Given the description of an element on the screen output the (x, y) to click on. 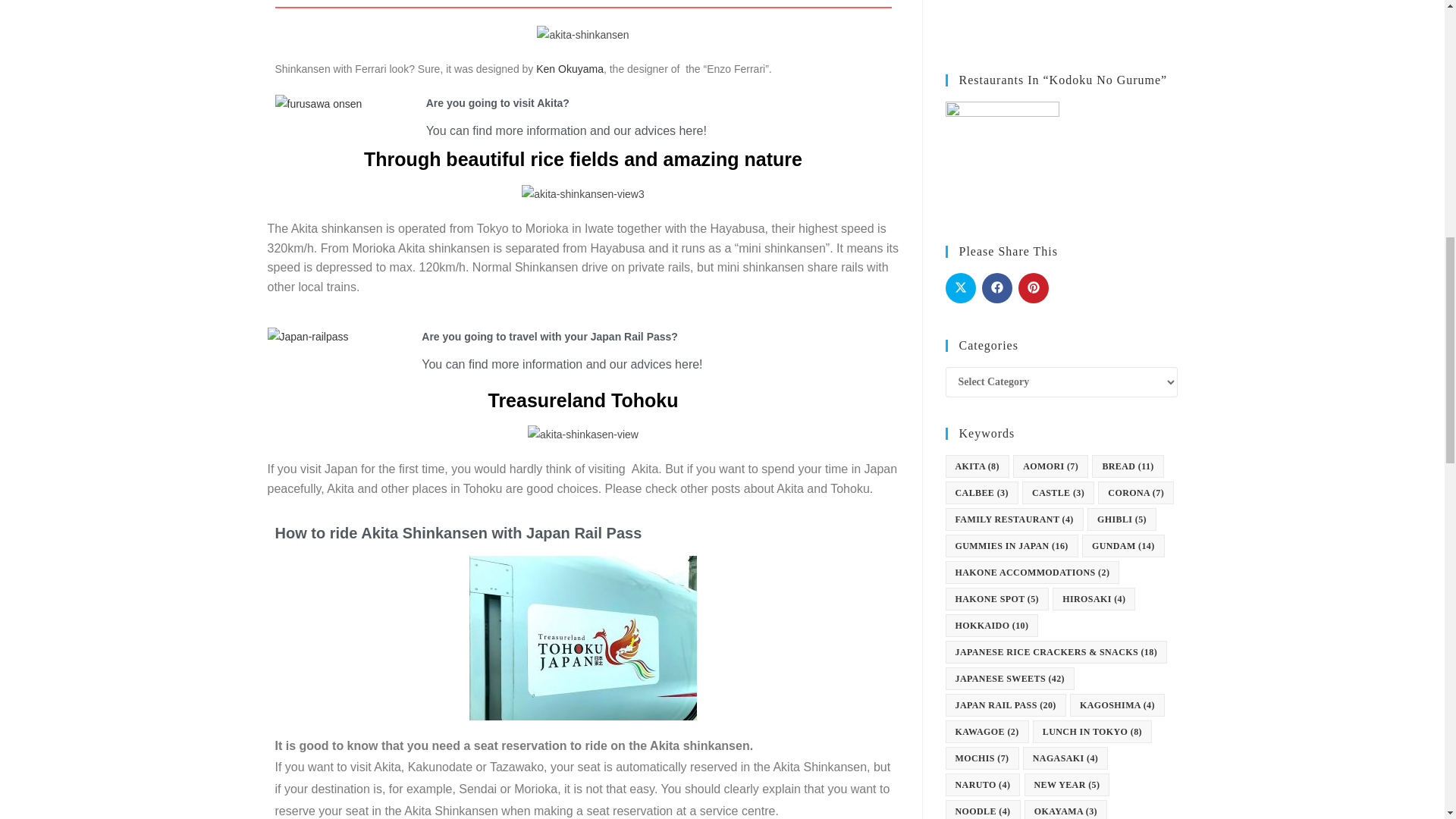
Share on Facebook (996, 287)
akita-shinkasen-view (583, 434)
akita-shinkansen (582, 35)
Share on X (959, 287)
Japan-railpass (306, 336)
furusawa onsen (318, 104)
akita-shinkansen-view3 (583, 194)
